Given the description of an element on the screen output the (x, y) to click on. 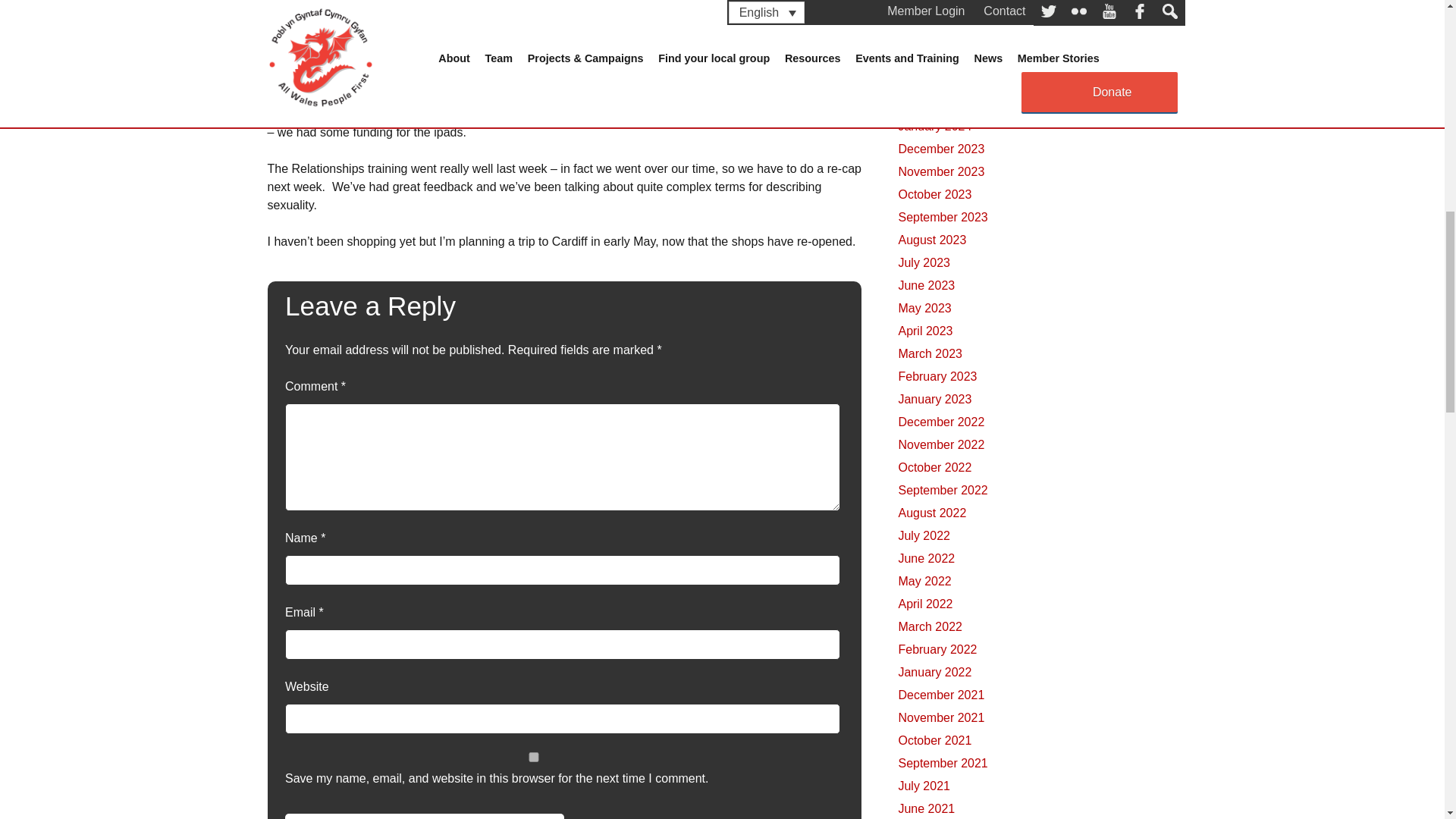
yes (534, 757)
Post Comment (424, 816)
Post Comment (424, 816)
